Given the description of an element on the screen output the (x, y) to click on. 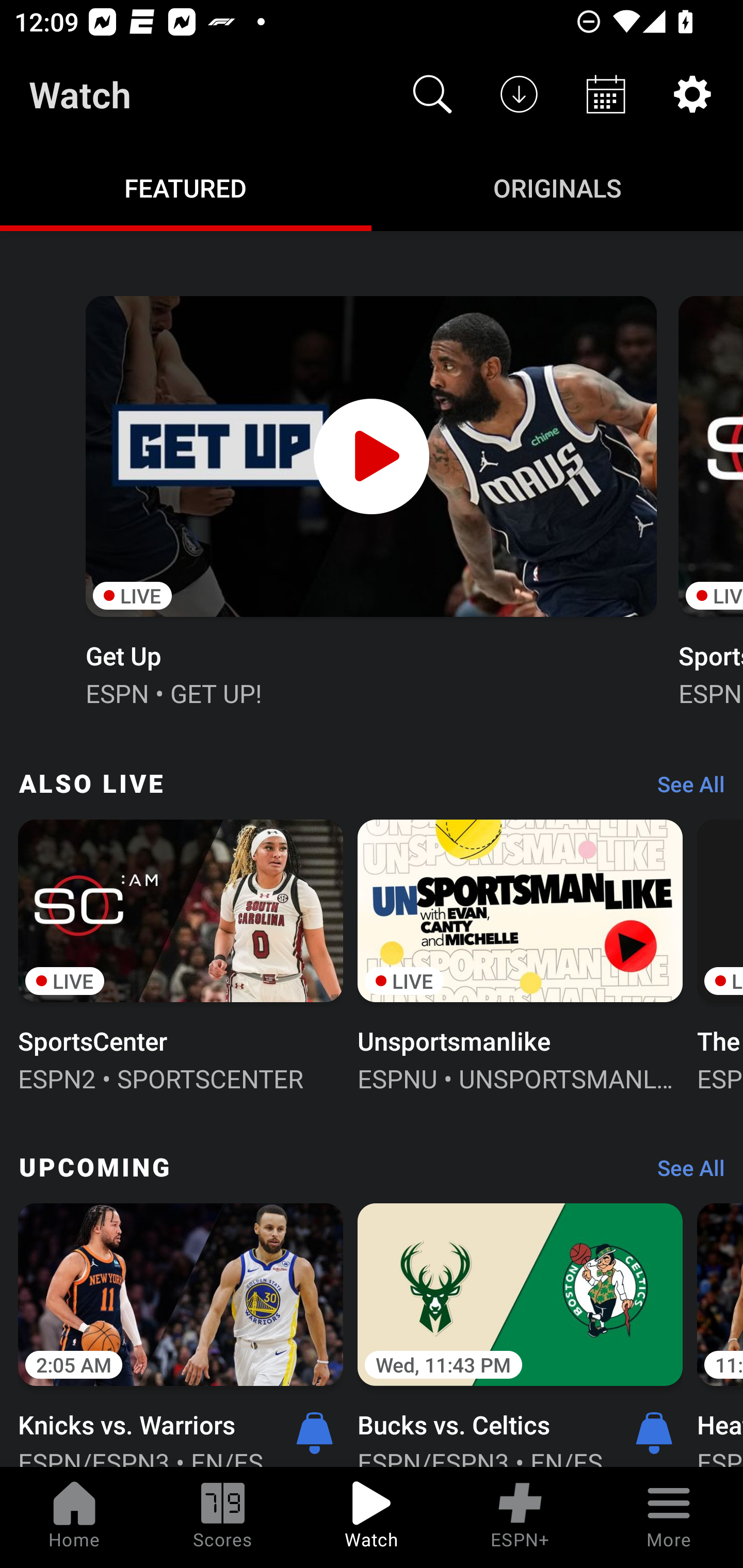
Search (432, 93)
Downloads (518, 93)
Schedule (605, 93)
Settings (692, 93)
Originals ORIGINALS (557, 187)
 LIVE Get Up ESPN • GET UP! (370, 499)
See All (683, 788)
LIVE SportsCenter ESPN2 • SPORTSCENTER (180, 954)
See All (683, 1172)
Home (74, 1517)
Scores (222, 1517)
ESPN+ (519, 1517)
More (668, 1517)
